Given the description of an element on the screen output the (x, y) to click on. 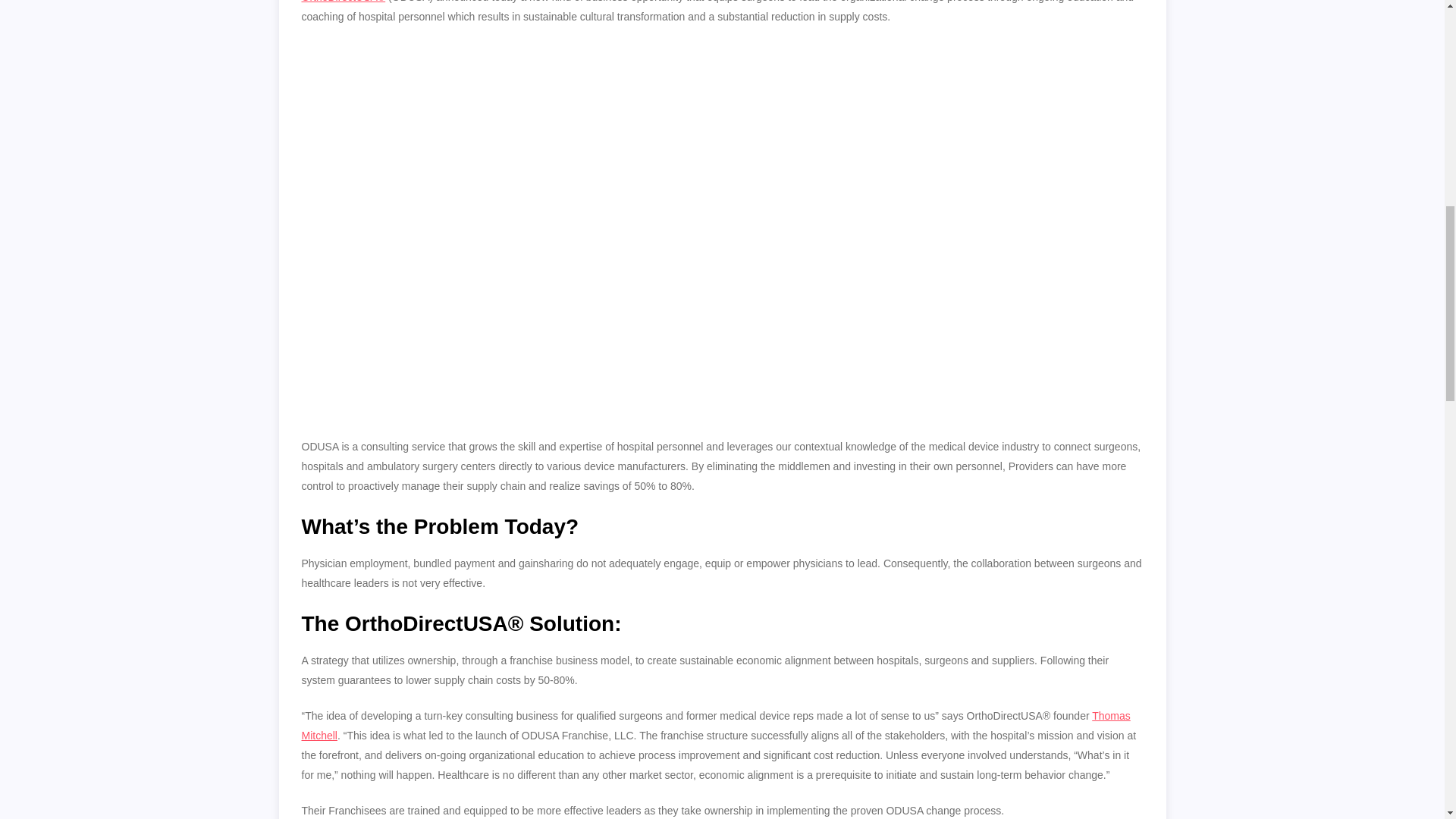
Thomas Mitchell (716, 726)
